Given the description of an element on the screen output the (x, y) to click on. 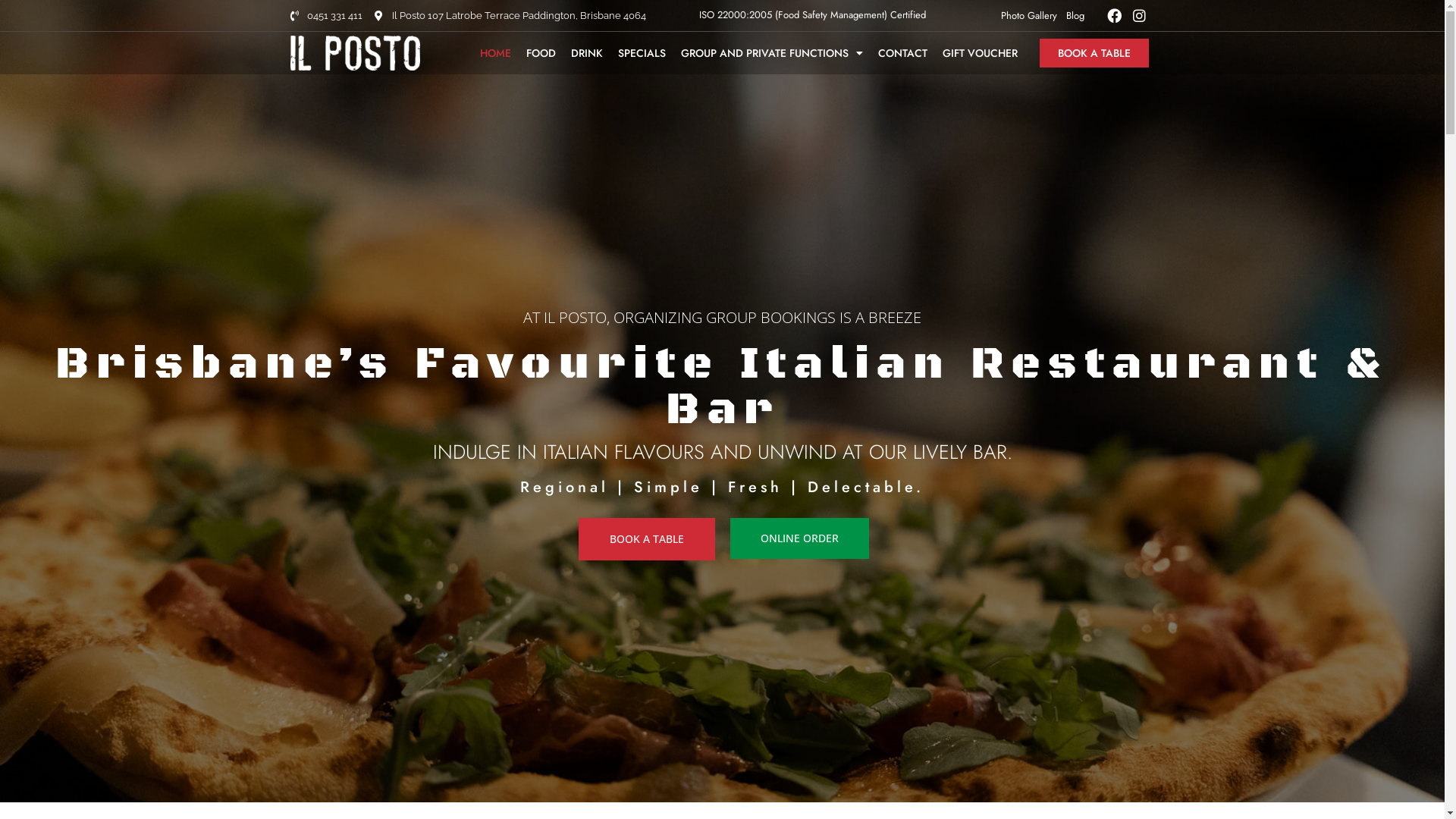
HOME Element type: text (494, 52)
BOOK A TABLE Element type: text (1093, 52)
0451 331 411 Element type: text (325, 15)
GROUP AND PRIVATE FUNCTIONS Element type: text (771, 52)
Blog Element type: text (1074, 14)
BOOK A TABLE Element type: text (645, 538)
SPECIALS Element type: text (640, 52)
ONLINE ORDER Element type: text (798, 537)
Photo Gallery Element type: text (1028, 14)
CONTACT Element type: text (902, 52)
Il Posto 107 Latrobe Terrace Paddington, Brisbane 4064 Element type: text (510, 15)
FOOD Element type: text (540, 52)
DRINK Element type: text (585, 52)
GIFT VOUCHER Element type: text (979, 52)
